Given the description of an element on the screen output the (x, y) to click on. 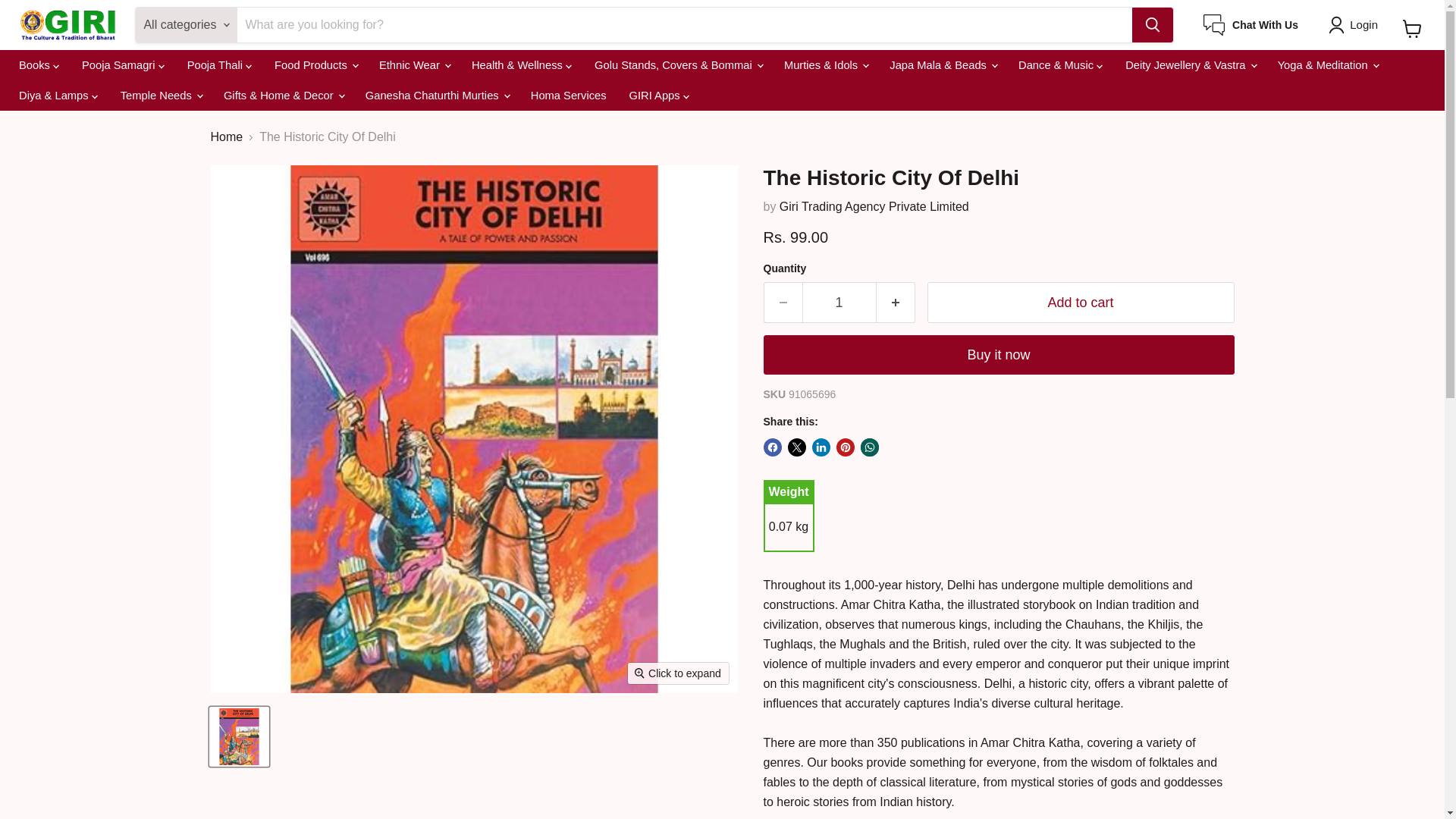
Giri Trading Agency Private Limited (873, 205)
1 (839, 302)
Chat With Us (1251, 25)
View cart (1411, 28)
Login (1355, 24)
